Given the description of an element on the screen output the (x, y) to click on. 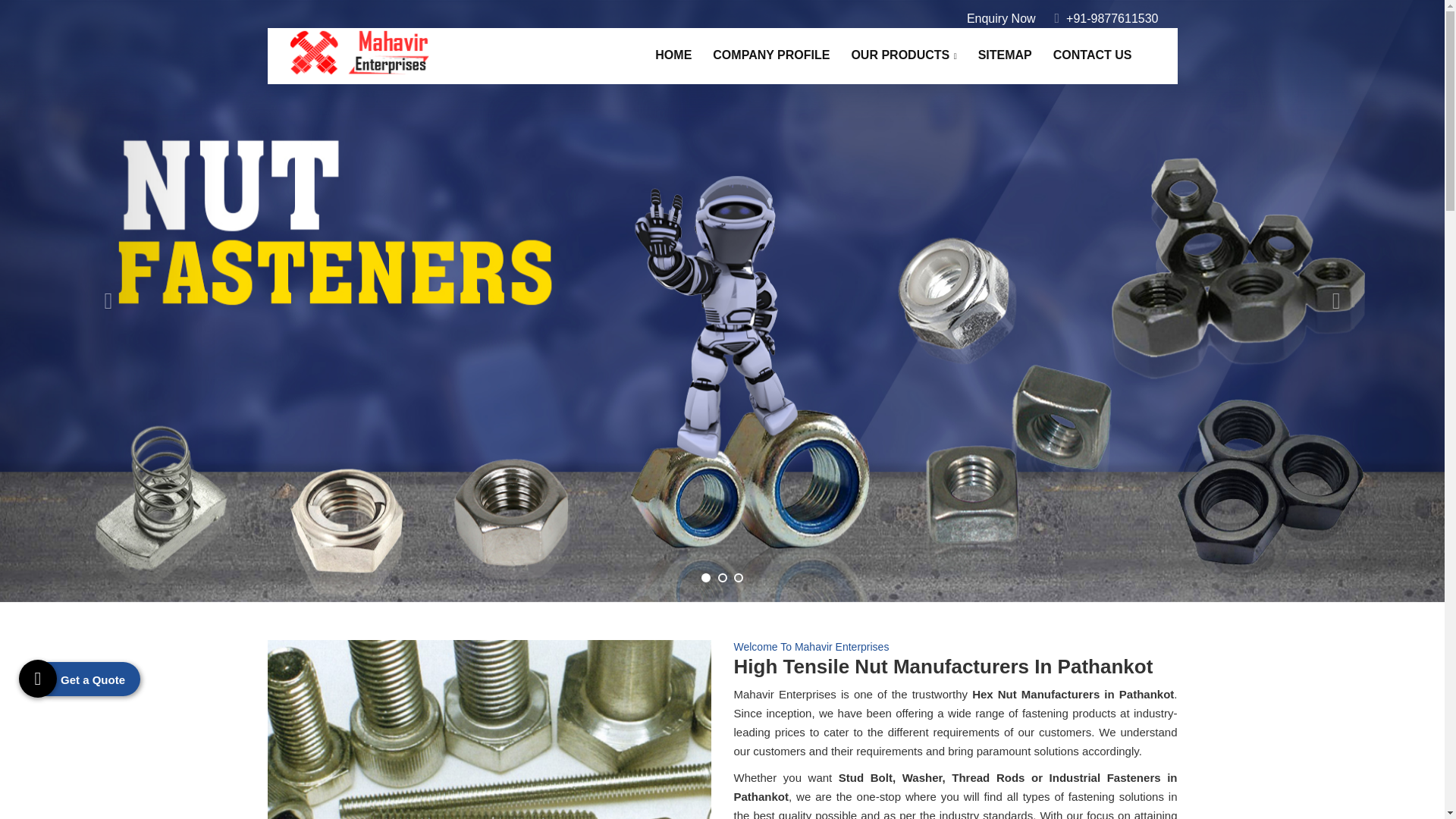
Enquiry Now (1000, 18)
OUR PRODUCTS (903, 54)
Company Profile (770, 54)
Enquiry Now (1000, 18)
Mahavir Enterprises (359, 51)
COMPANY PROFILE (770, 54)
Our Products (903, 54)
HOME (673, 54)
Mahavir Enterprises (359, 51)
Home (673, 54)
